Given the description of an element on the screen output the (x, y) to click on. 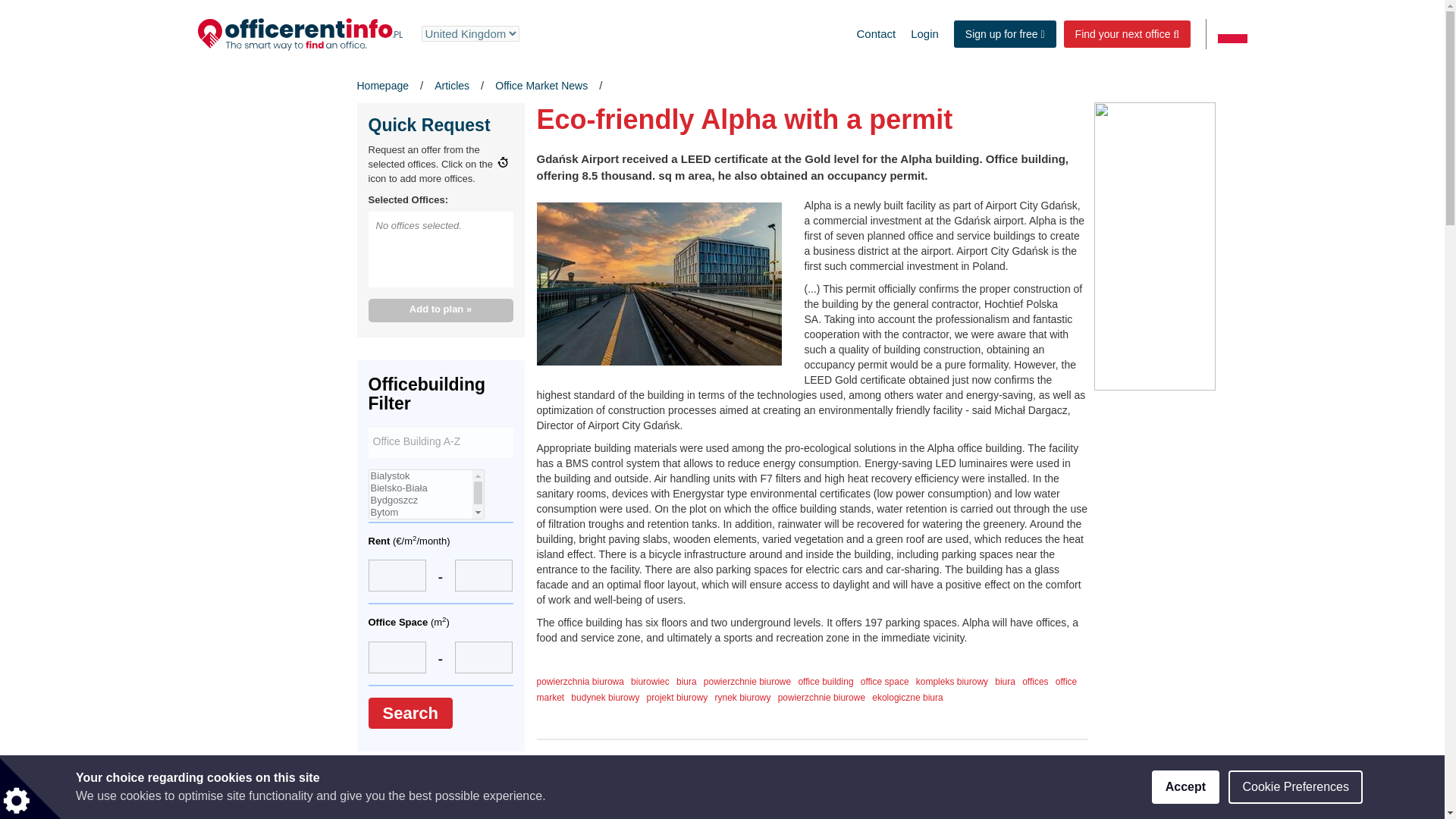
biura (687, 681)
office space (884, 681)
Office Market News (541, 85)
Search (410, 712)
Login (924, 33)
Cookie settings icon (30, 788)
Eco-friendly Alpha with a permit (659, 283)
Sign up for free (1005, 33)
kompleks biurowy (951, 681)
biura (1004, 681)
